Given the description of an element on the screen output the (x, y) to click on. 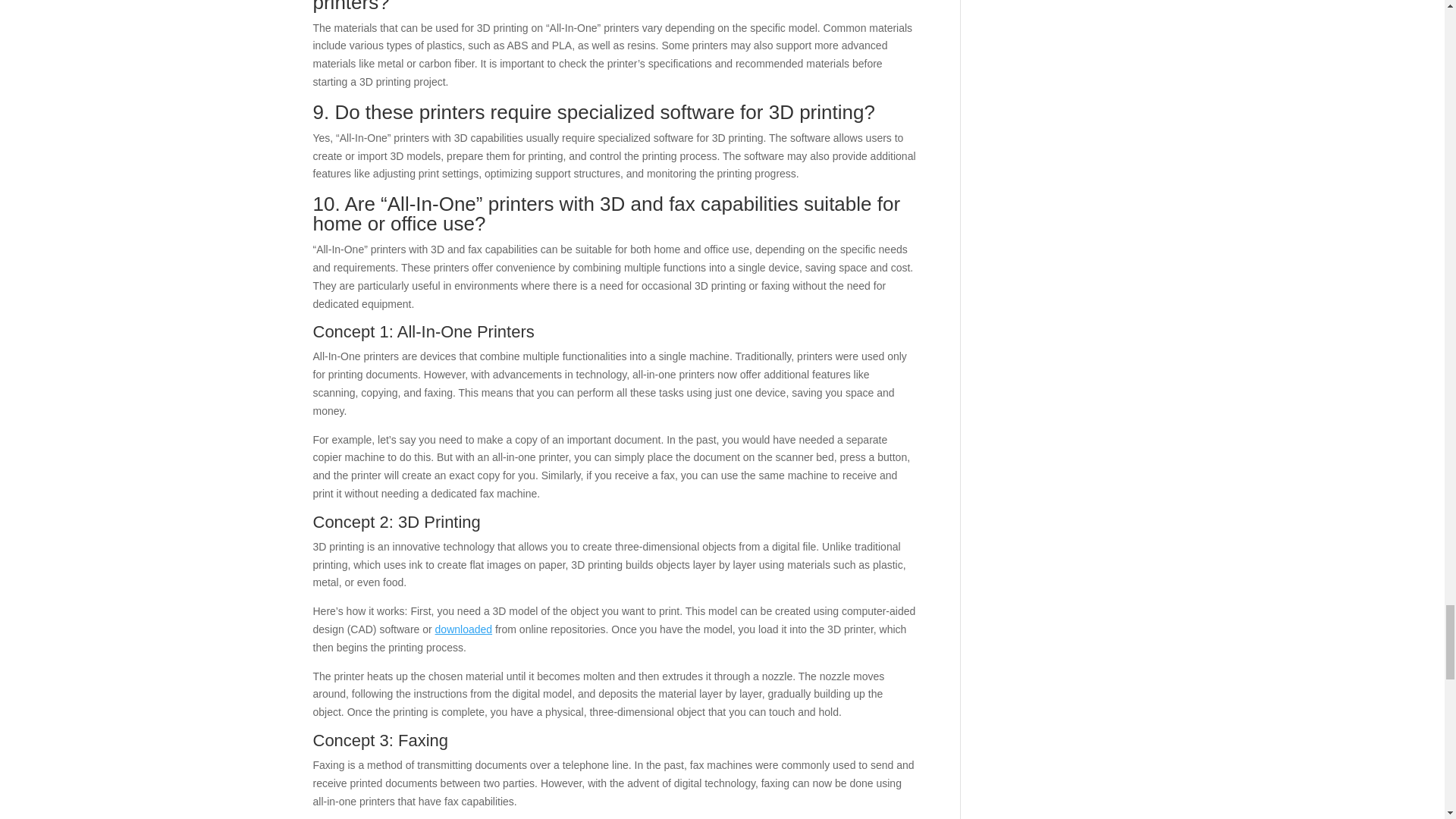
downloaded (464, 629)
